Given the description of an element on the screen output the (x, y) to click on. 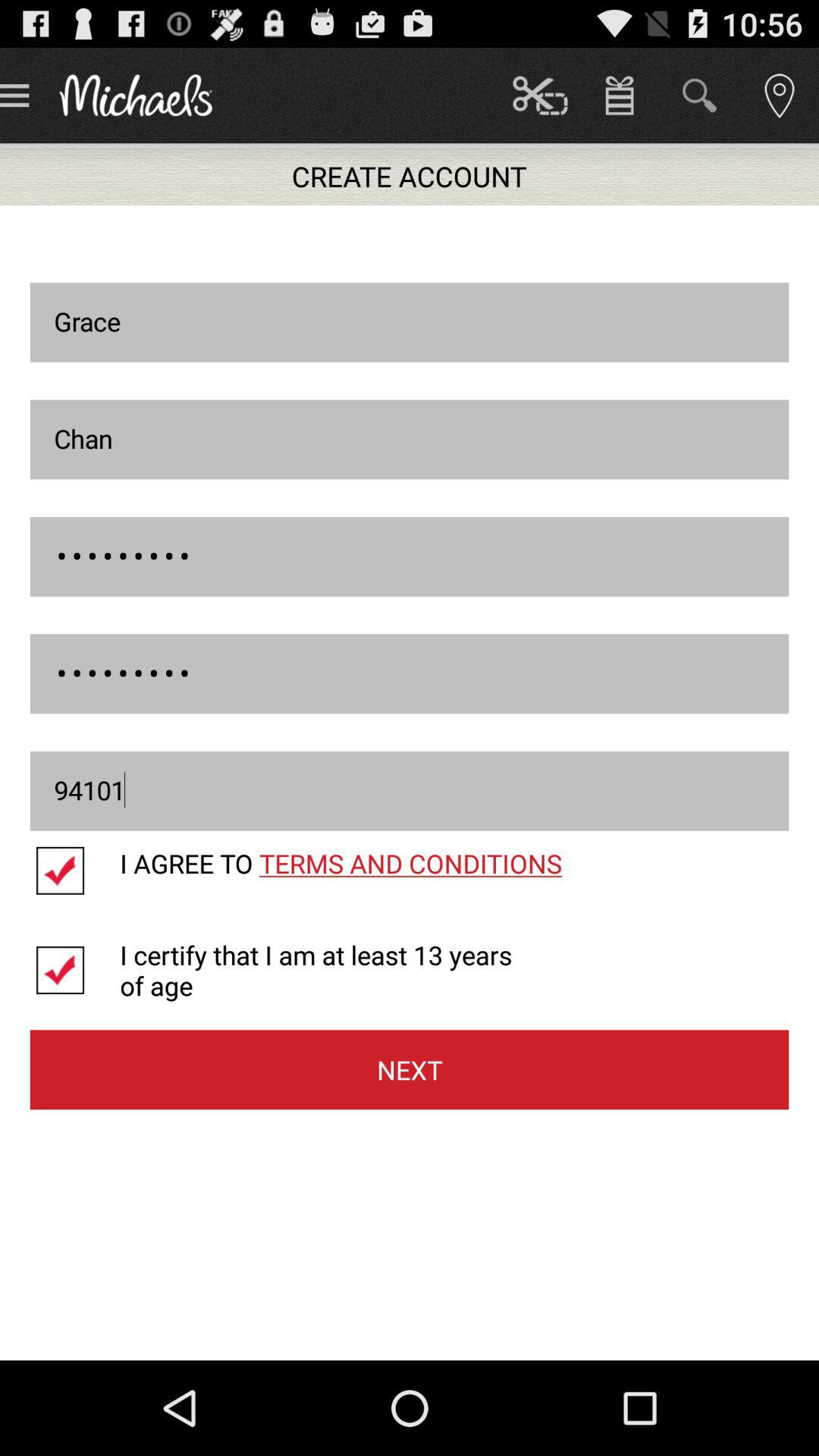
toggle agreement to terms and conditions (75, 870)
